Given the description of an element on the screen output the (x, y) to click on. 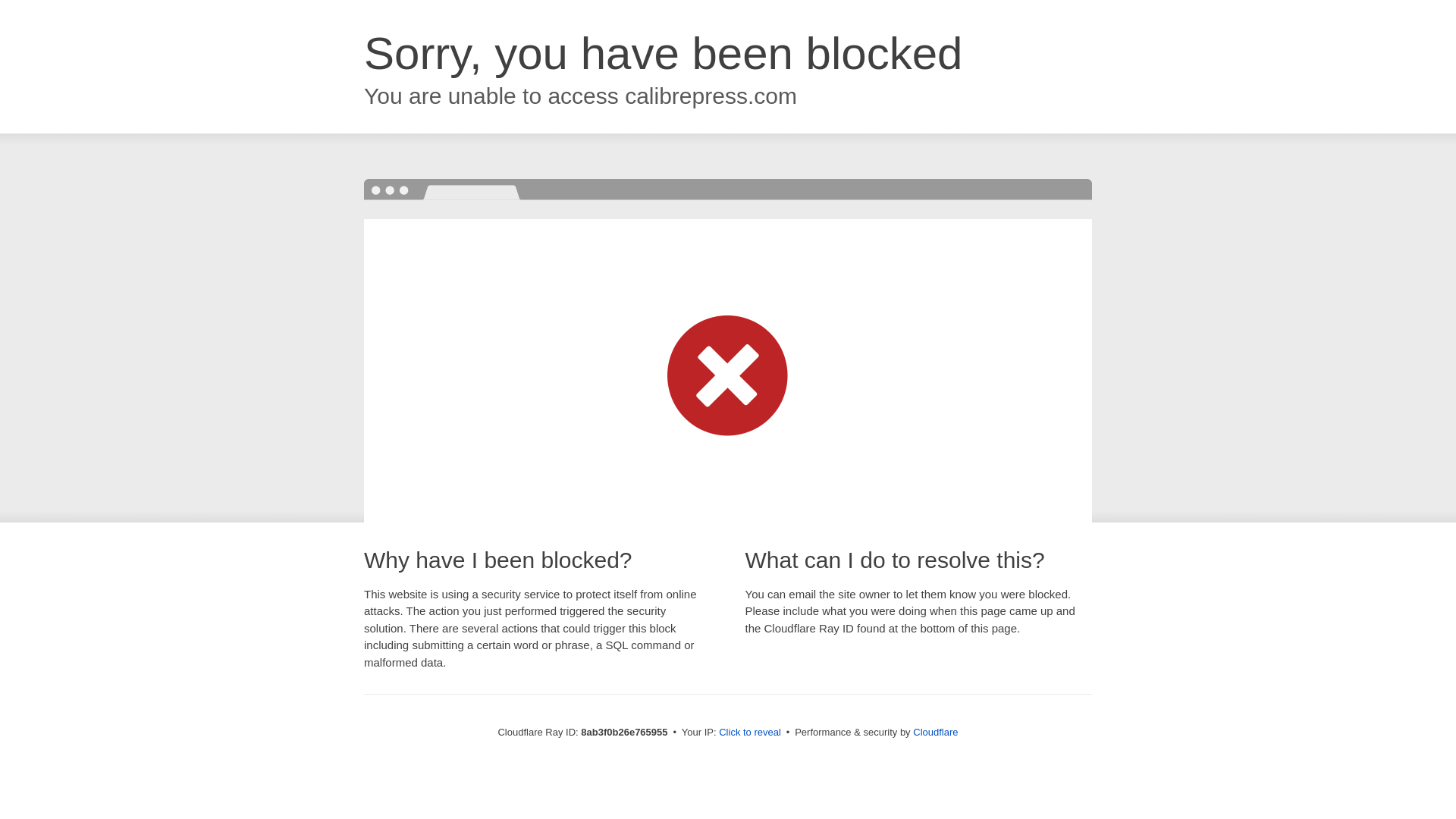
Cloudflare (935, 731)
Click to reveal (749, 732)
